Given the description of an element on the screen output the (x, y) to click on. 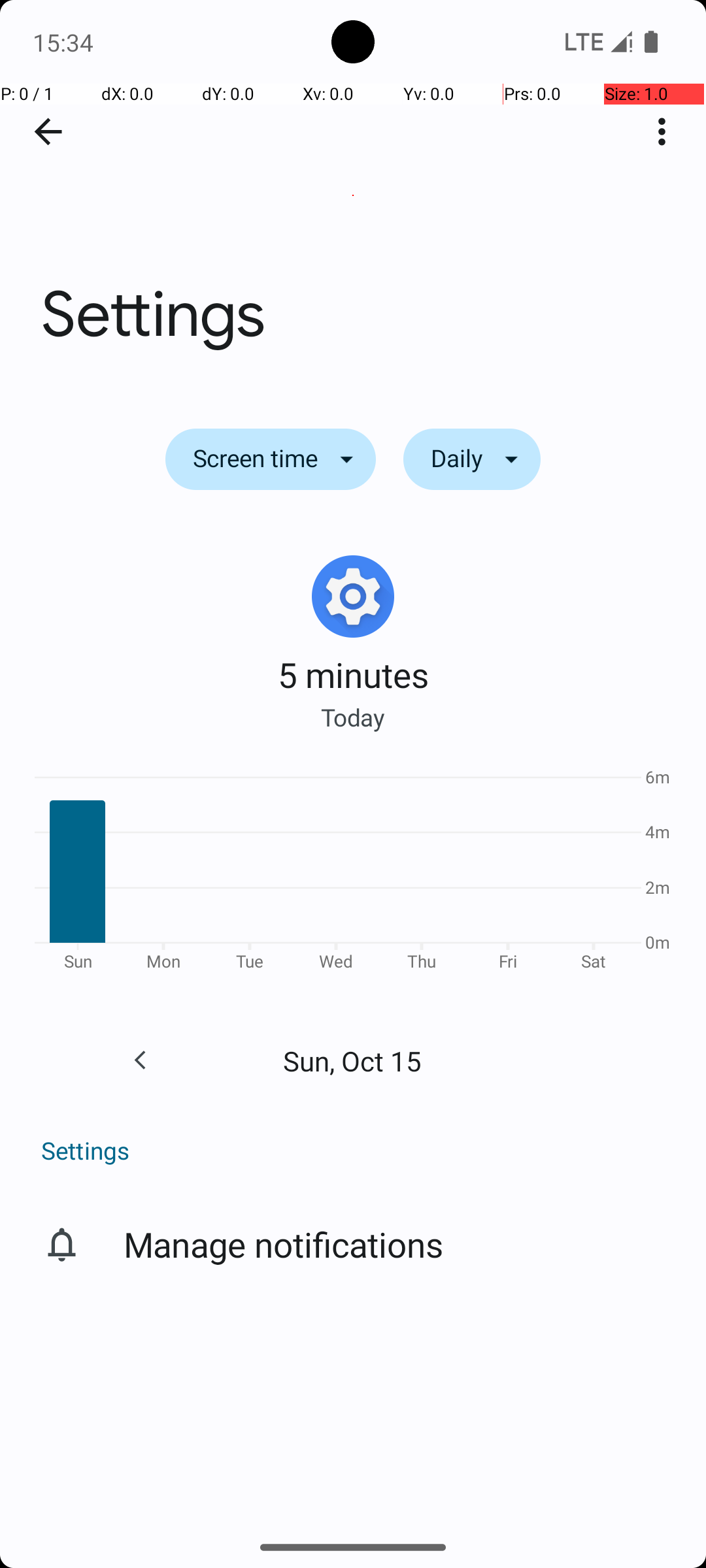
5 minutes Element type: android.widget.TextView (353, 674)
Bar Chart. Showing App usage data with 7 data points. Element type: android.view.ViewGroup (353, 873)
